Given the description of an element on the screen output the (x, y) to click on. 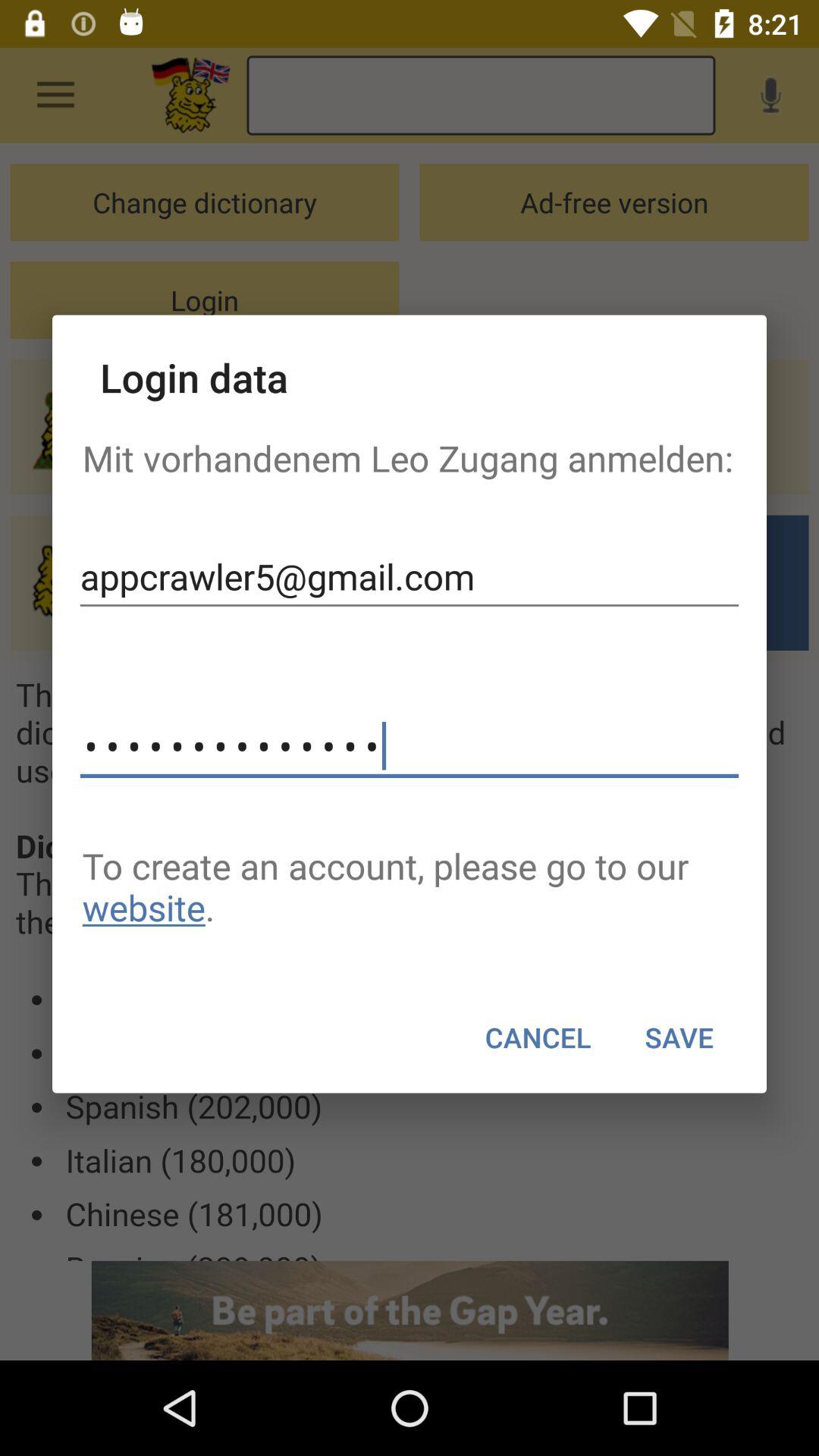
swipe until the save icon (678, 1037)
